Given the description of an element on the screen output the (x, y) to click on. 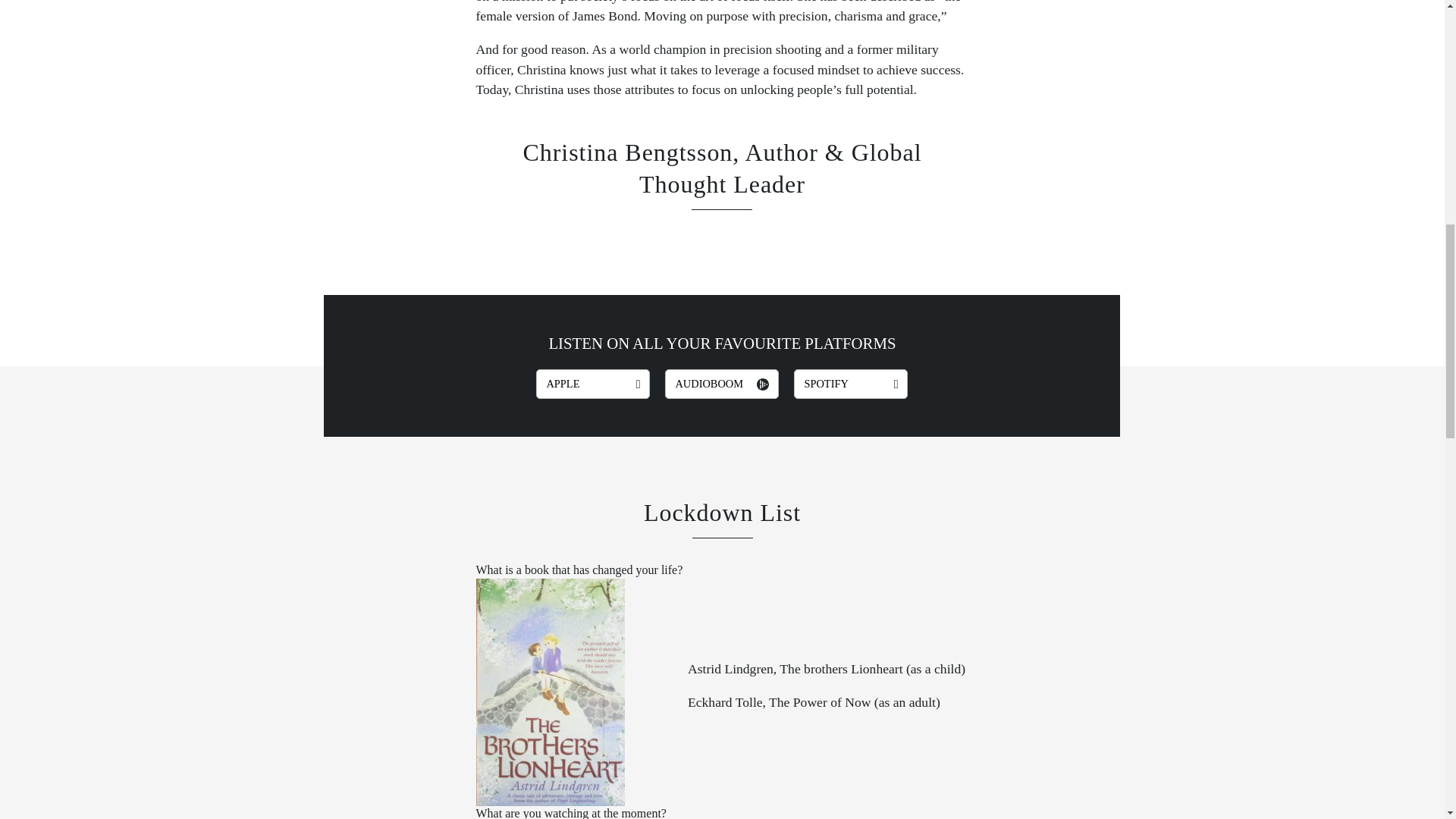
SPOTIFY (850, 383)
APPLE (592, 383)
AUDIOBOOM (721, 383)
